Given the description of an element on the screen output the (x, y) to click on. 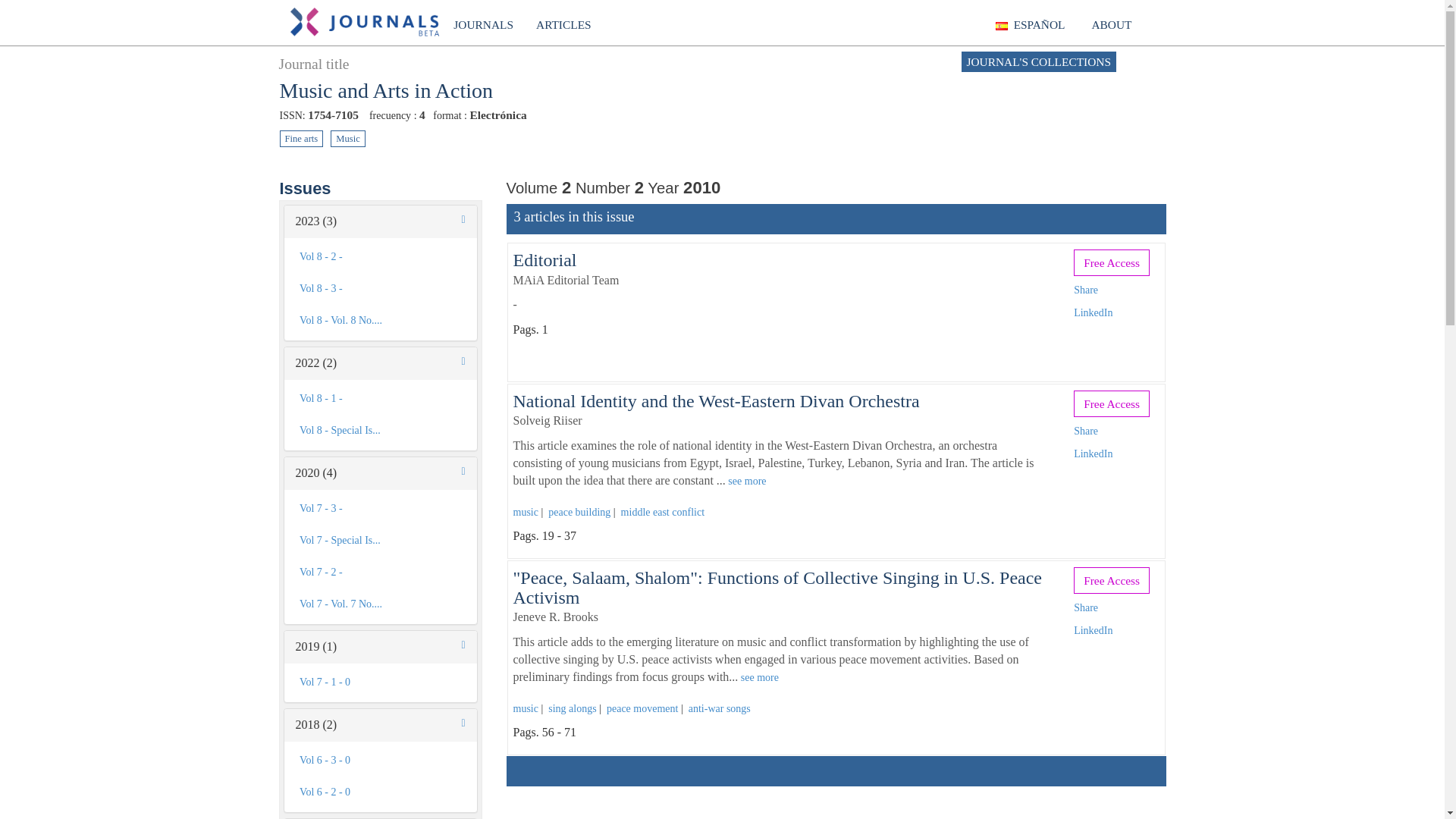
Vol 7 - 3 -  (379, 508)
Access to journal collection in XJournals (483, 24)
access jornals collections in Fine arts (301, 138)
access articles related to MAiA Editorial Team (565, 279)
Vol 7 - 2 -  (379, 572)
access to detail of the journal Music and Arts in Action (386, 90)
Vol 8 - Special Is... (379, 430)
Vol 7 - Vol. 7 No.... (379, 603)
Vol 6 - 3 - 0 (379, 760)
ARTICLES (563, 24)
Music and Arts in Action (386, 90)
Vol 8 - Vol. 8 No.... (379, 320)
Fine arts (301, 138)
Vol 7 - 1 - 0 (379, 682)
.... (573, 216)
